Given the description of an element on the screen output the (x, y) to click on. 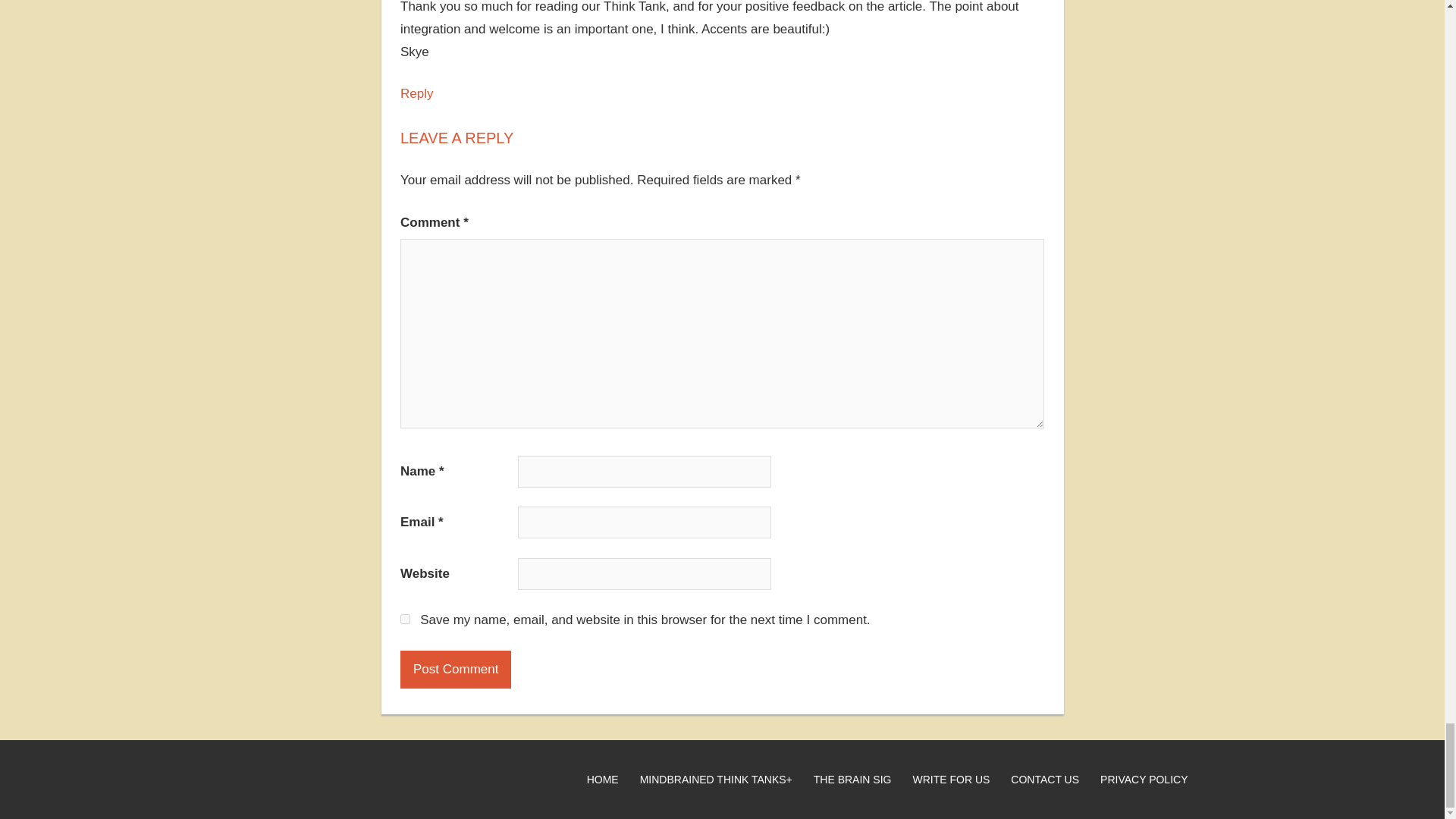
Post Comment (455, 669)
yes (405, 619)
